Given the description of an element on the screen output the (x, y) to click on. 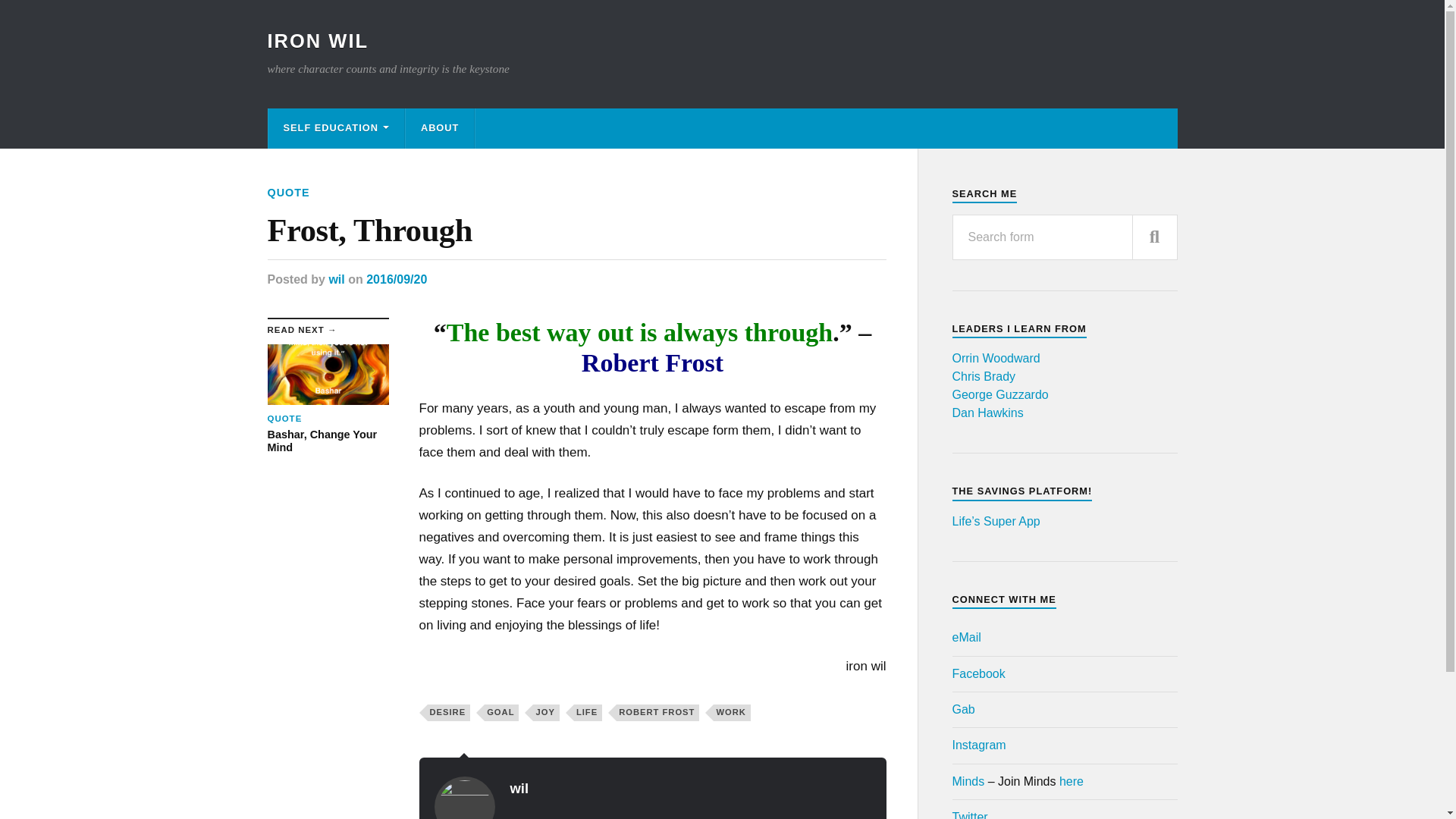
GOAL (501, 712)
IRON WIL (317, 40)
Twitter (970, 814)
Instagram (979, 744)
Gab (963, 708)
QUOTE (287, 192)
wil (518, 788)
ABOUT (440, 128)
SELF EDUCATION (335, 128)
George Guzzardo (1000, 394)
WORK (731, 712)
LIFE (587, 712)
wil (336, 278)
here (1071, 780)
ROBERT FROST (656, 712)
